Given the description of an element on the screen output the (x, y) to click on. 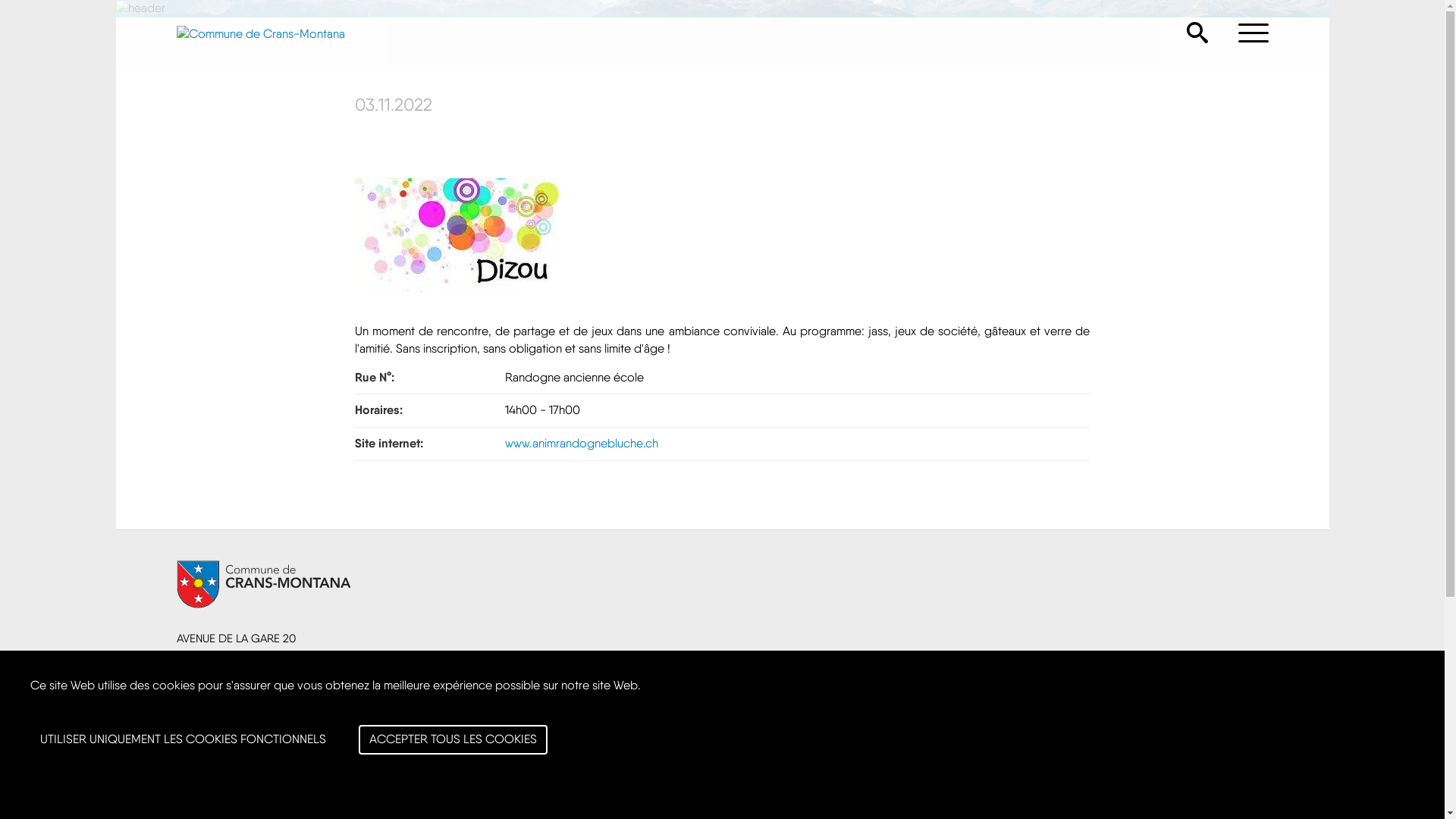
UTILISER UNIQUEMENT LES COOKIES FONCTIONNELS Element type: text (182, 739)
www.animrandognebluche.ch Element type: text (581, 443)
OK Element type: text (1245, 698)
ACCEPTER TOUS LES COOKIES Element type: text (452, 739)
CRANS-MONTANA@CRANSMONTANA.CH Element type: text (277, 703)
